Given the description of an element on the screen output the (x, y) to click on. 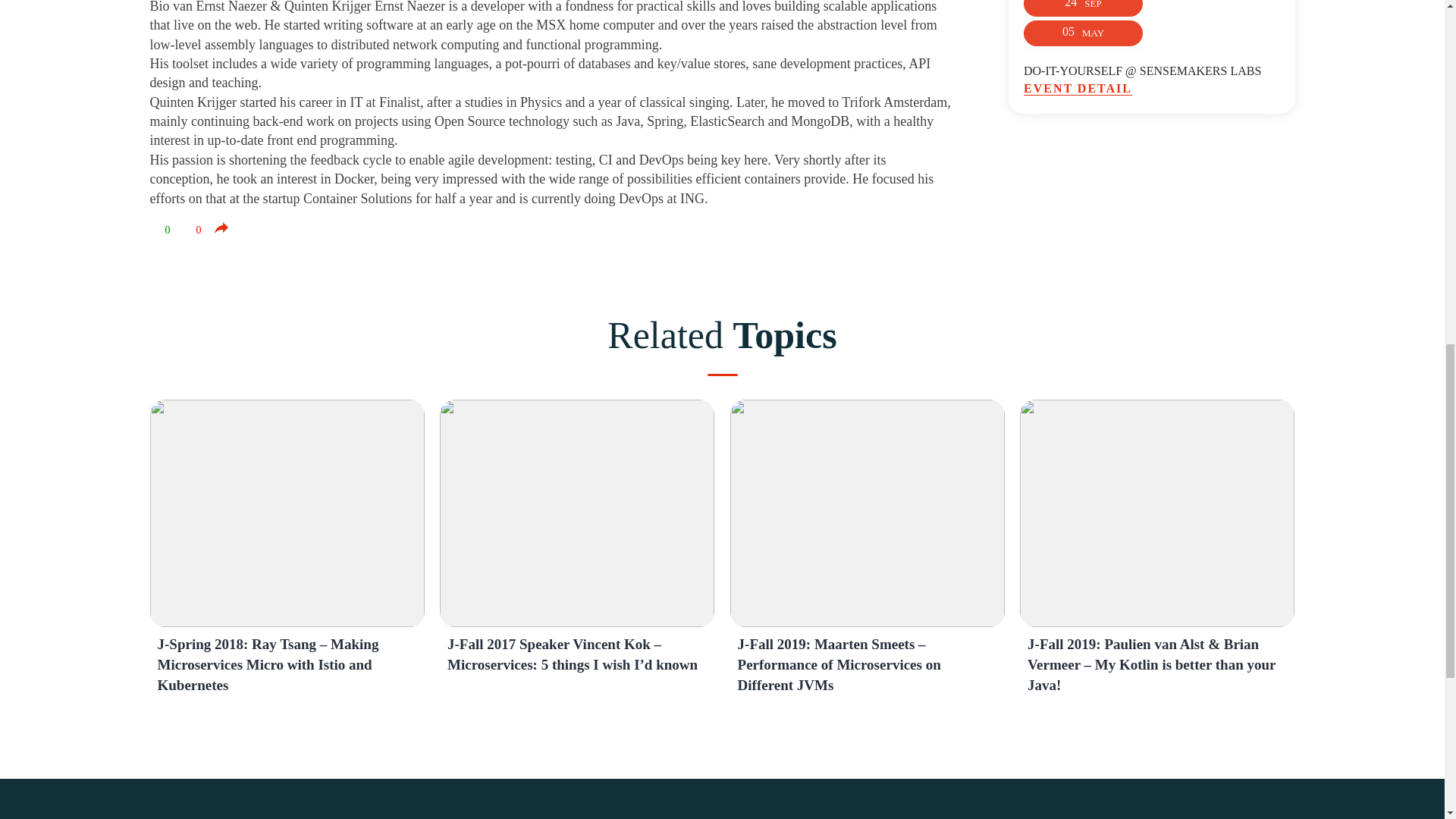
EVENT DETAIL (1151, 88)
